Given the description of an element on the screen output the (x, y) to click on. 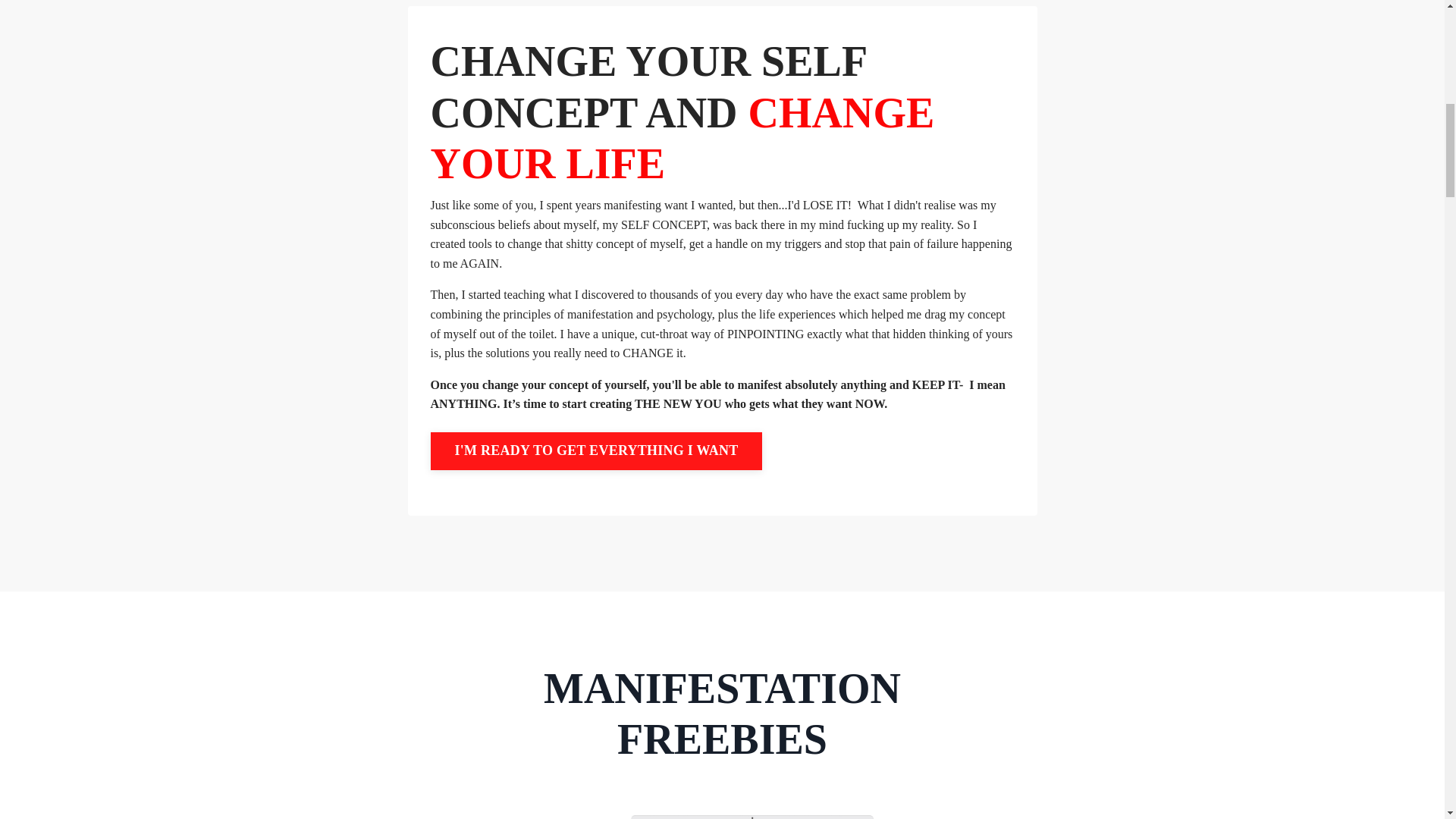
I'M READY TO GET EVERYTHING I WANT (596, 451)
